Given the description of an element on the screen output the (x, y) to click on. 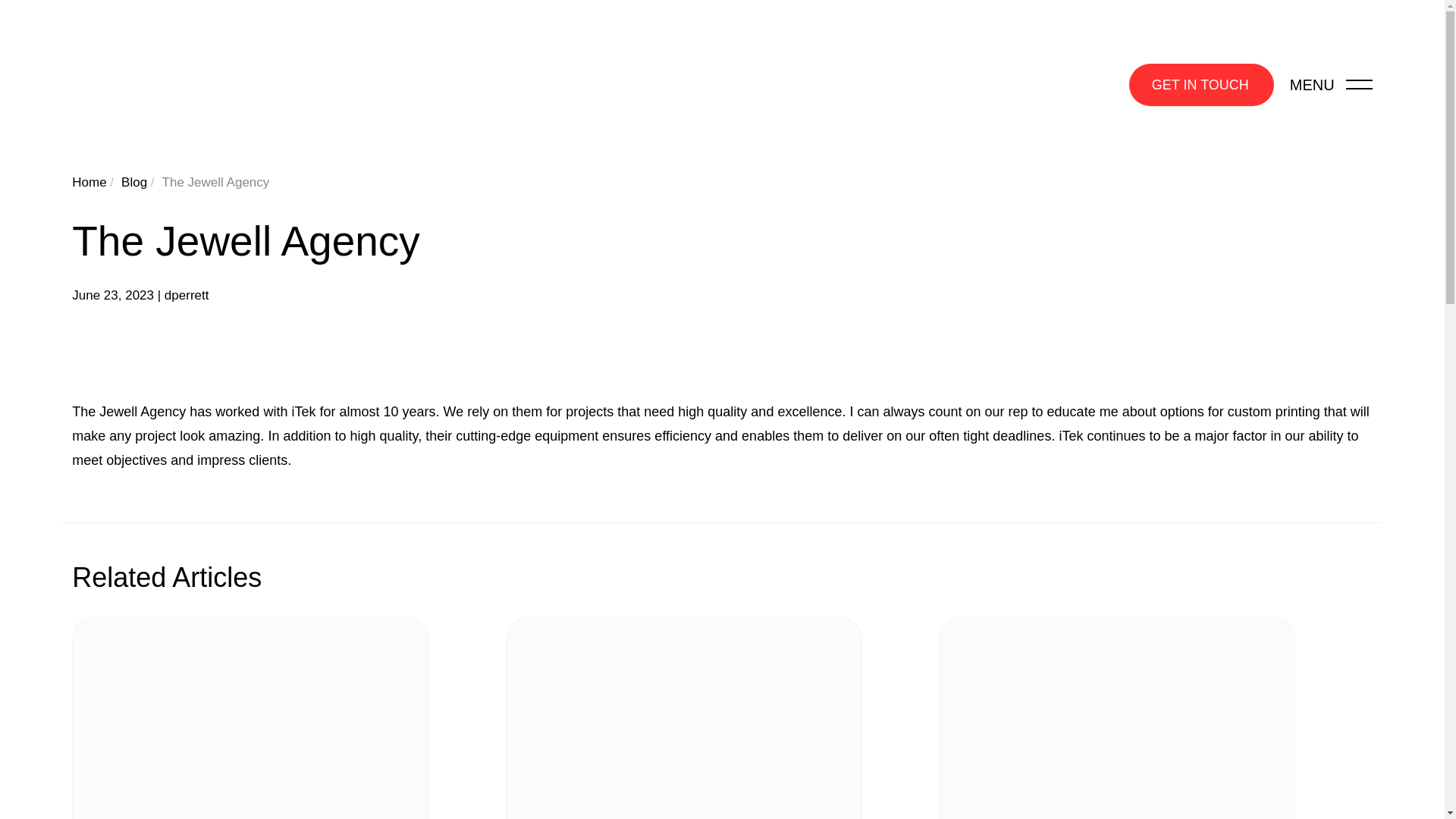
Home (88, 182)
GET IN TOUCH (1201, 84)
Blog (133, 182)
MENU (1331, 84)
